Given the description of an element on the screen output the (x, y) to click on. 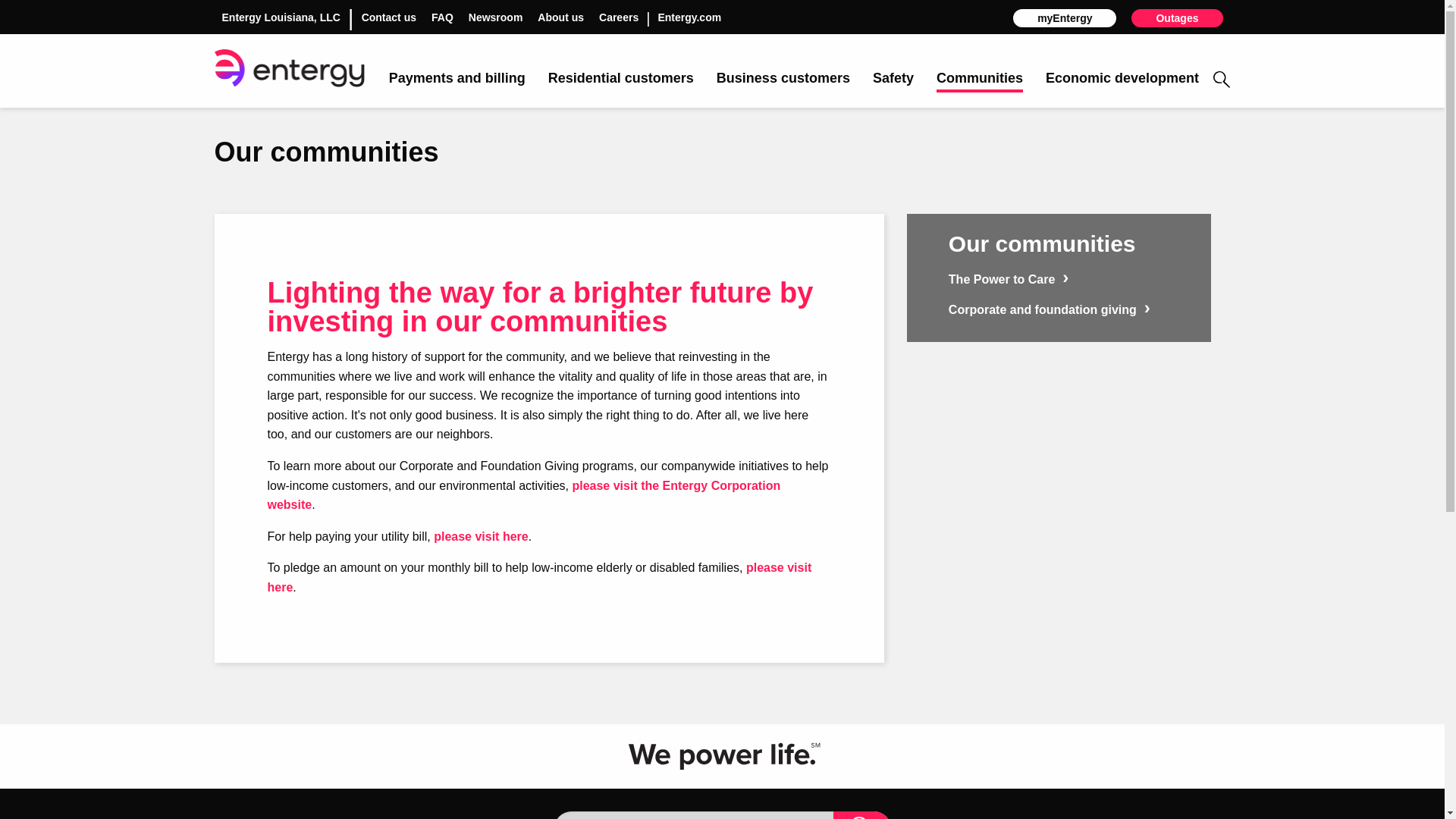
Careers (618, 17)
Entergy Louisiana, LLC (280, 17)
myEntergy (1064, 18)
About us (560, 17)
Contact us (388, 17)
Entergy.com (689, 17)
Payments and billing (456, 79)
FAQ (441, 17)
Newsroom (495, 17)
Outages (1177, 18)
